Given the description of an element on the screen output the (x, y) to click on. 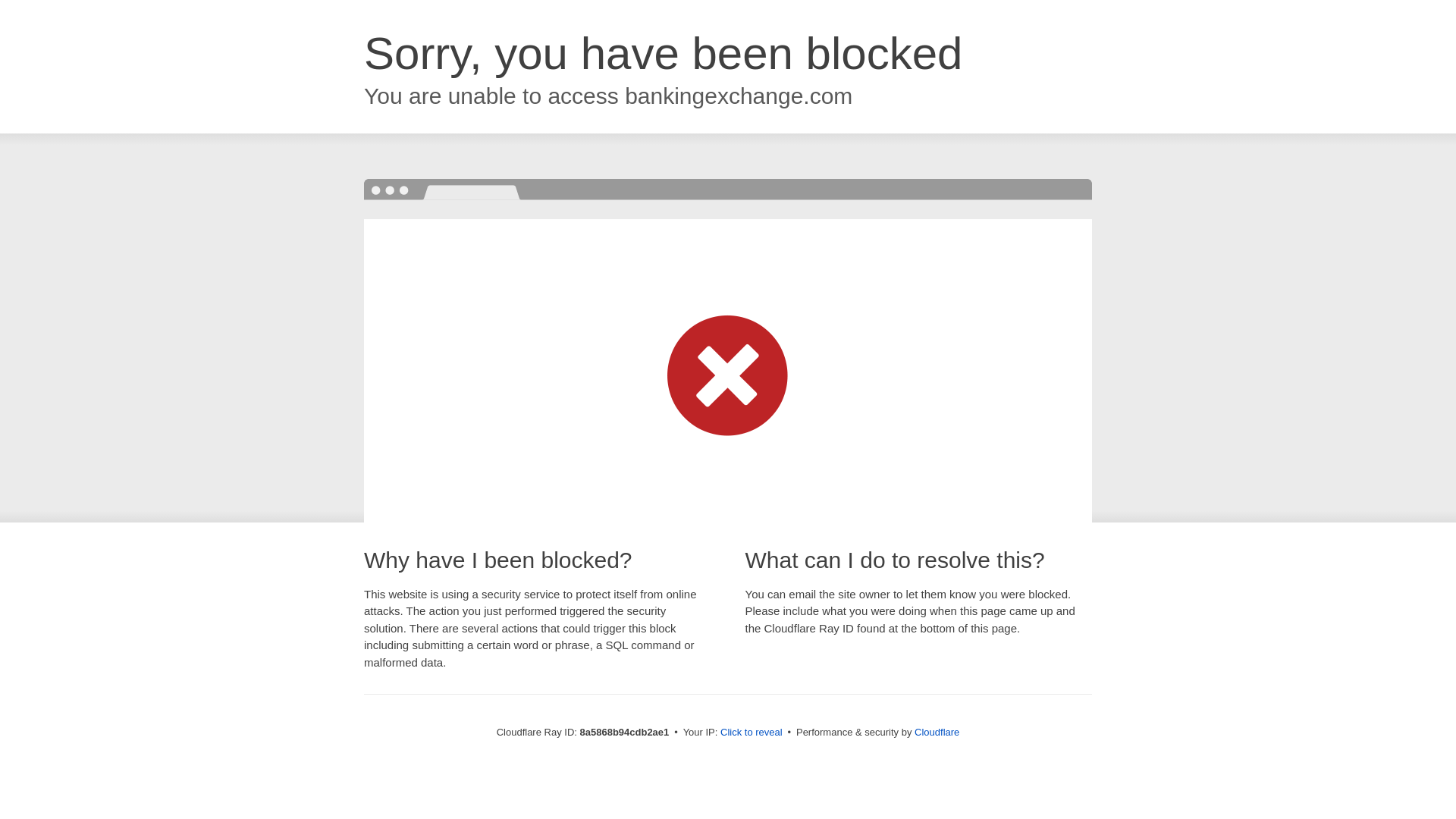
Click to reveal (751, 732)
Cloudflare (936, 731)
